Given the description of an element on the screen output the (x, y) to click on. 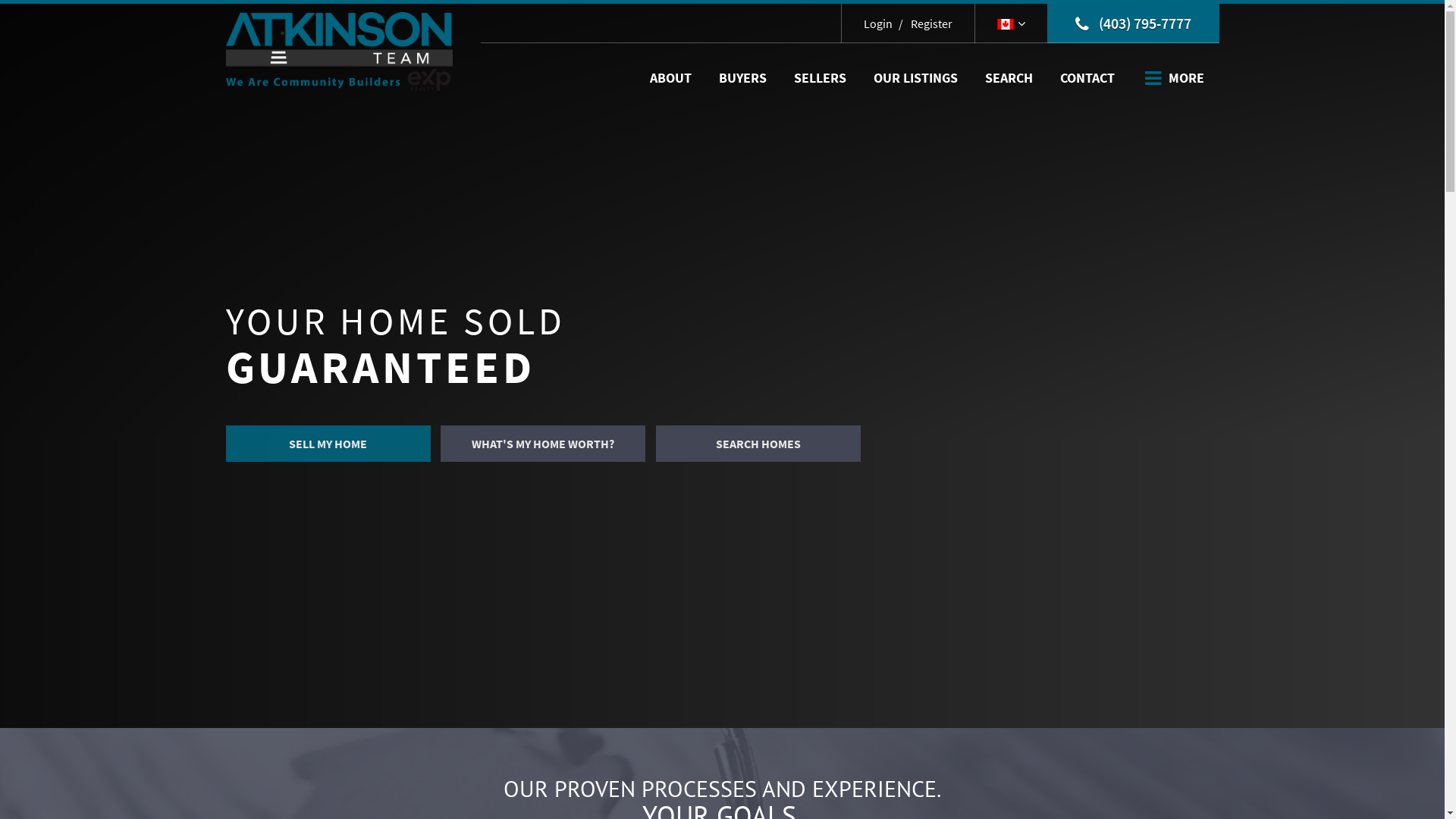
SEARCH Element type: text (1008, 77)
Register Element type: text (923, 23)
Select Language Element type: hover (1011, 23)
SELLERS Element type: text (819, 77)
ABOUT Element type: text (669, 77)
Login Element type: text (877, 23)
BUYERS Element type: text (742, 77)
WHAT'S MY HOME WORTH? Element type: text (542, 443)
(403) 795-7777 Element type: text (1132, 23)
Home Page Element type: hover (339, 49)
OUR LISTINGS Element type: text (915, 77)
SEARCH HOMES Element type: text (757, 443)
CONTACT Element type: text (1086, 77)
MORE Element type: text (1174, 77)
SELL MY HOME Element type: text (327, 443)
